Given the description of an element on the screen output the (x, y) to click on. 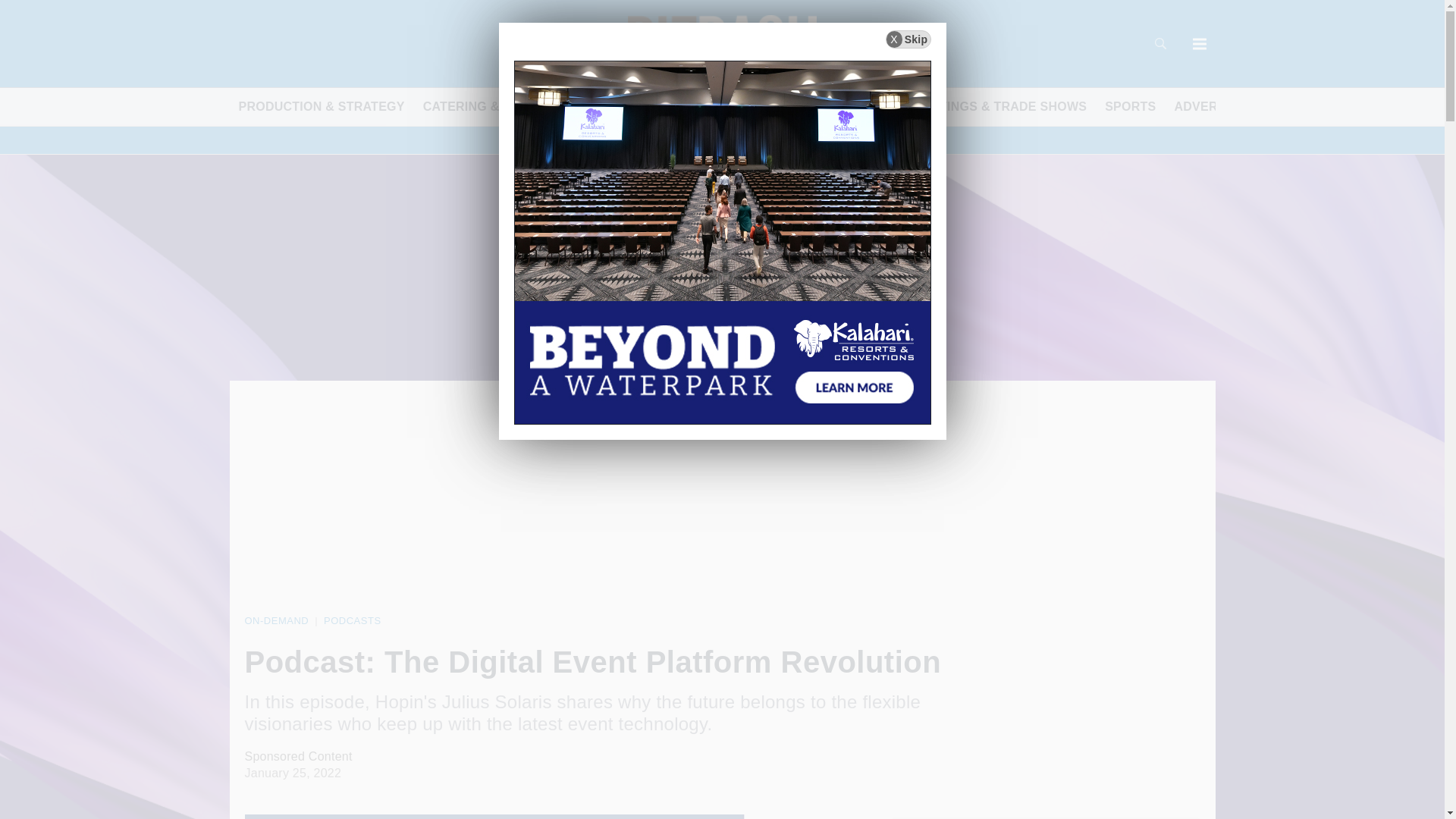
On-Demand (276, 620)
ADVERTISE (1208, 106)
SPORTS (1130, 106)
Podcasts (352, 620)
EVENTS (1288, 106)
